Given the description of an element on the screen output the (x, y) to click on. 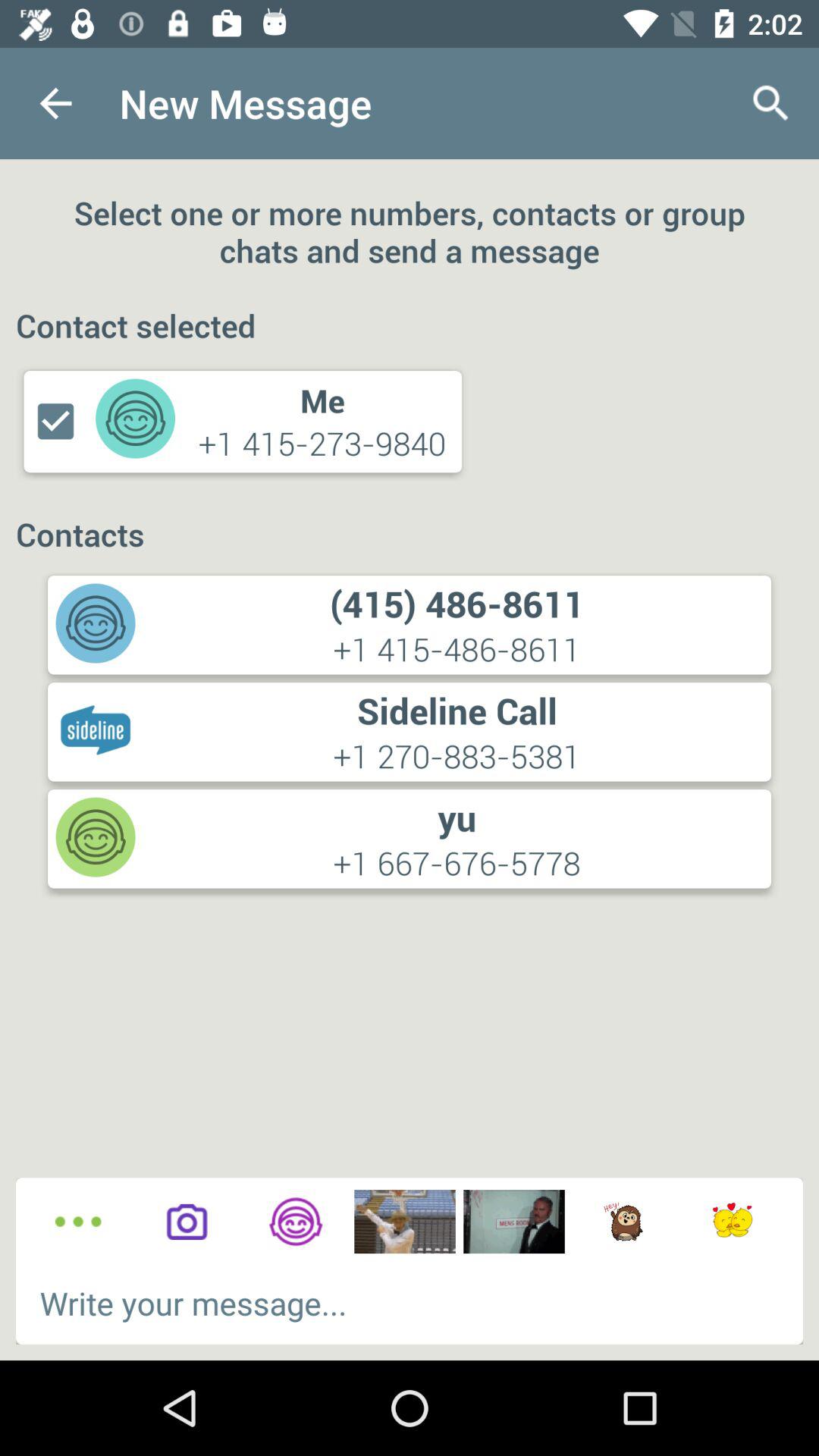
go to write mensage (409, 1302)
